Given the description of an element on the screen output the (x, y) to click on. 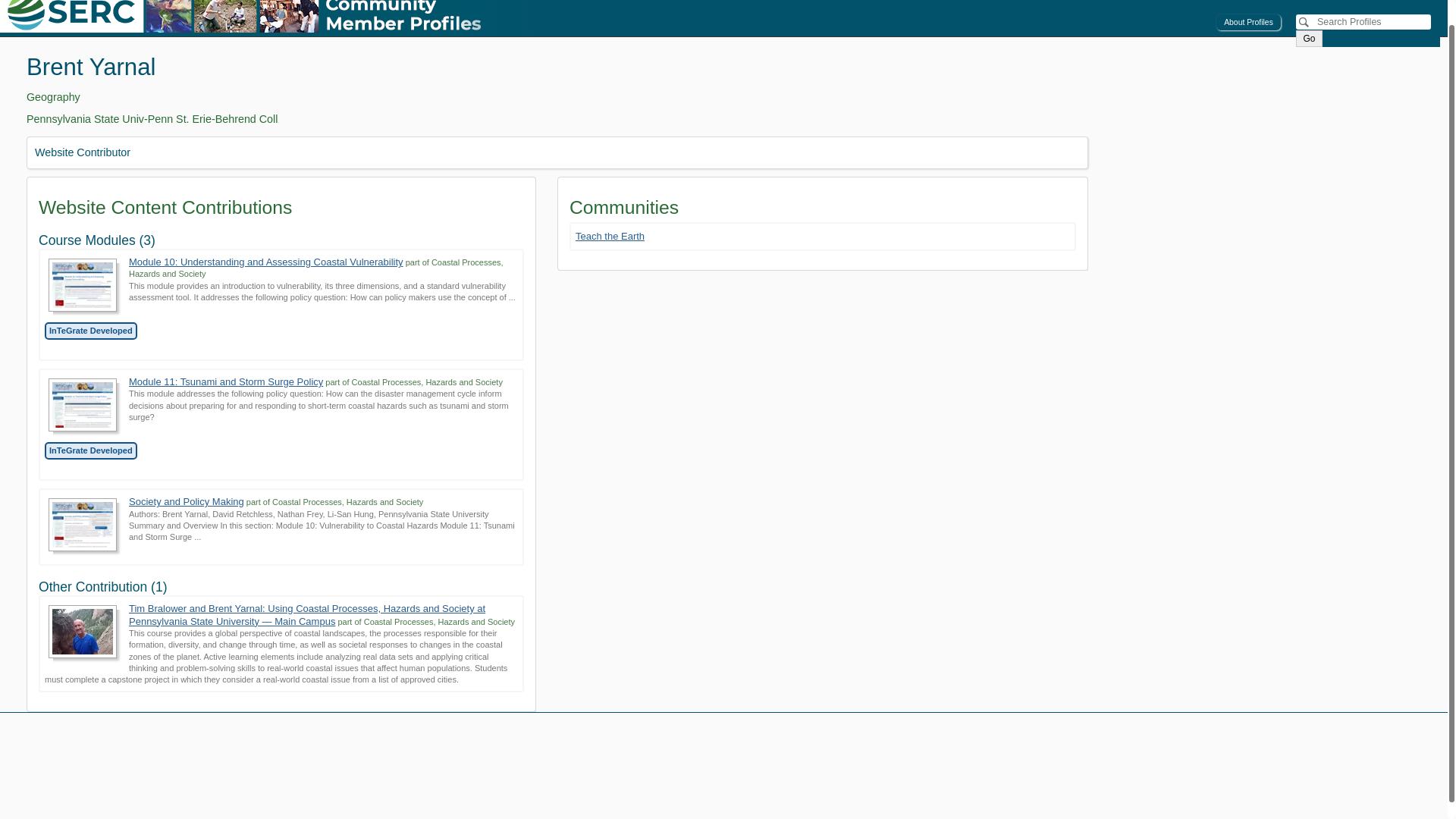
Module 10: Understanding and Assessing Coastal Vulnerability (266, 261)
Society and Policy Making (186, 501)
Go (1308, 38)
About Profiles (1248, 22)
Teach the Earth (822, 235)
Module 11: Tsunami and Storm Surge Policy (226, 381)
